Given the description of an element on the screen output the (x, y) to click on. 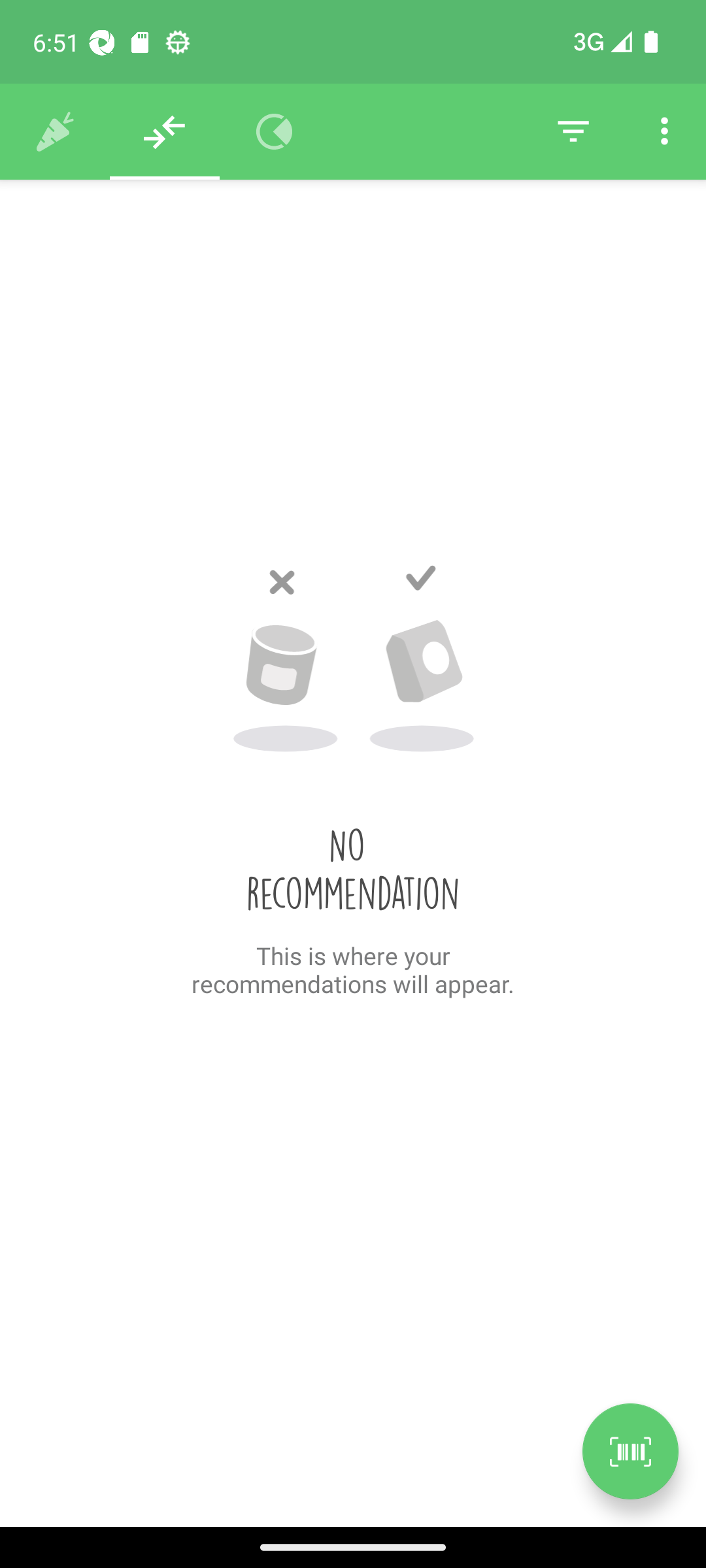
History (55, 131)
Overview (274, 131)
Filter (572, 131)
Settings (664, 131)
Scan a product (630, 1451)
